Given the description of an element on the screen output the (x, y) to click on. 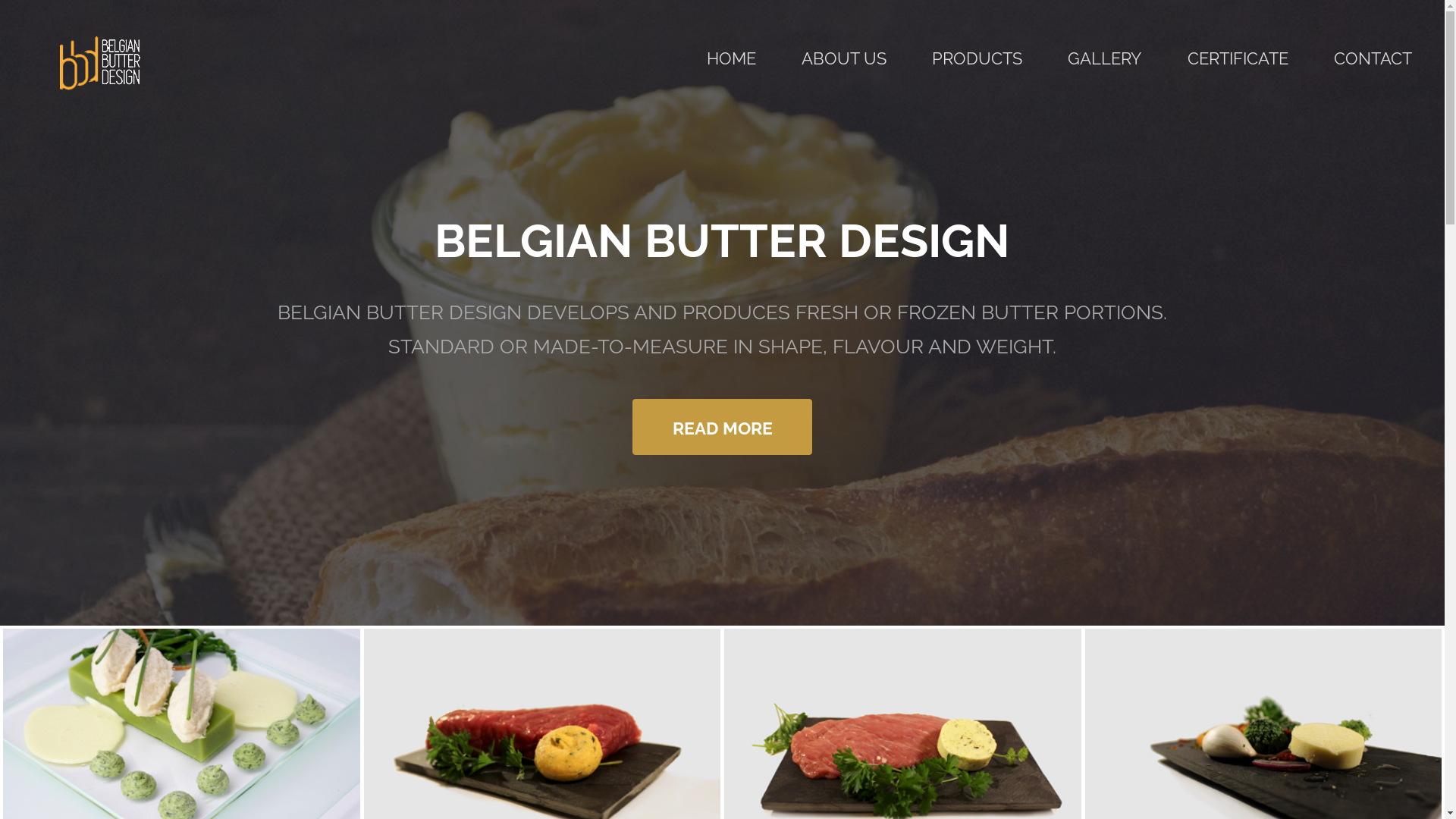
GALLERY Element type: text (1104, 58)
READ MORE Element type: text (722, 426)
CONTACT Element type: text (1372, 58)
CERTIFICATE Element type: text (1237, 58)
HOME Element type: text (731, 58)
PRODUCTS Element type: text (976, 58)
ABOUT US Element type: text (843, 58)
